Given the description of an element on the screen output the (x, y) to click on. 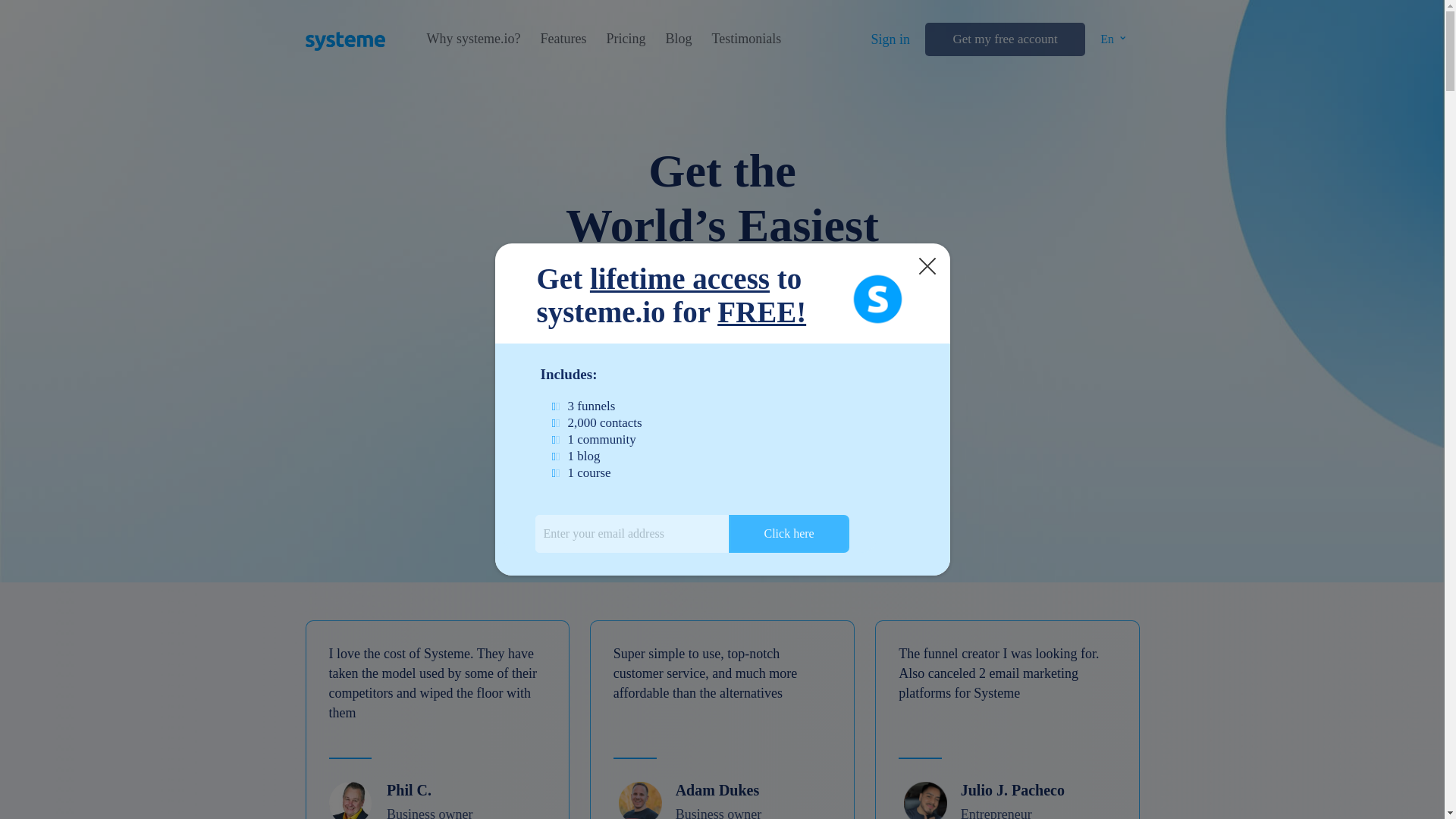
Why systeme.io? (472, 38)
Blog (678, 38)
Sign in (890, 39)
Get my free account (1004, 39)
Features (563, 38)
Pricing (625, 38)
Testimonials (745, 38)
